Given the description of an element on the screen output the (x, y) to click on. 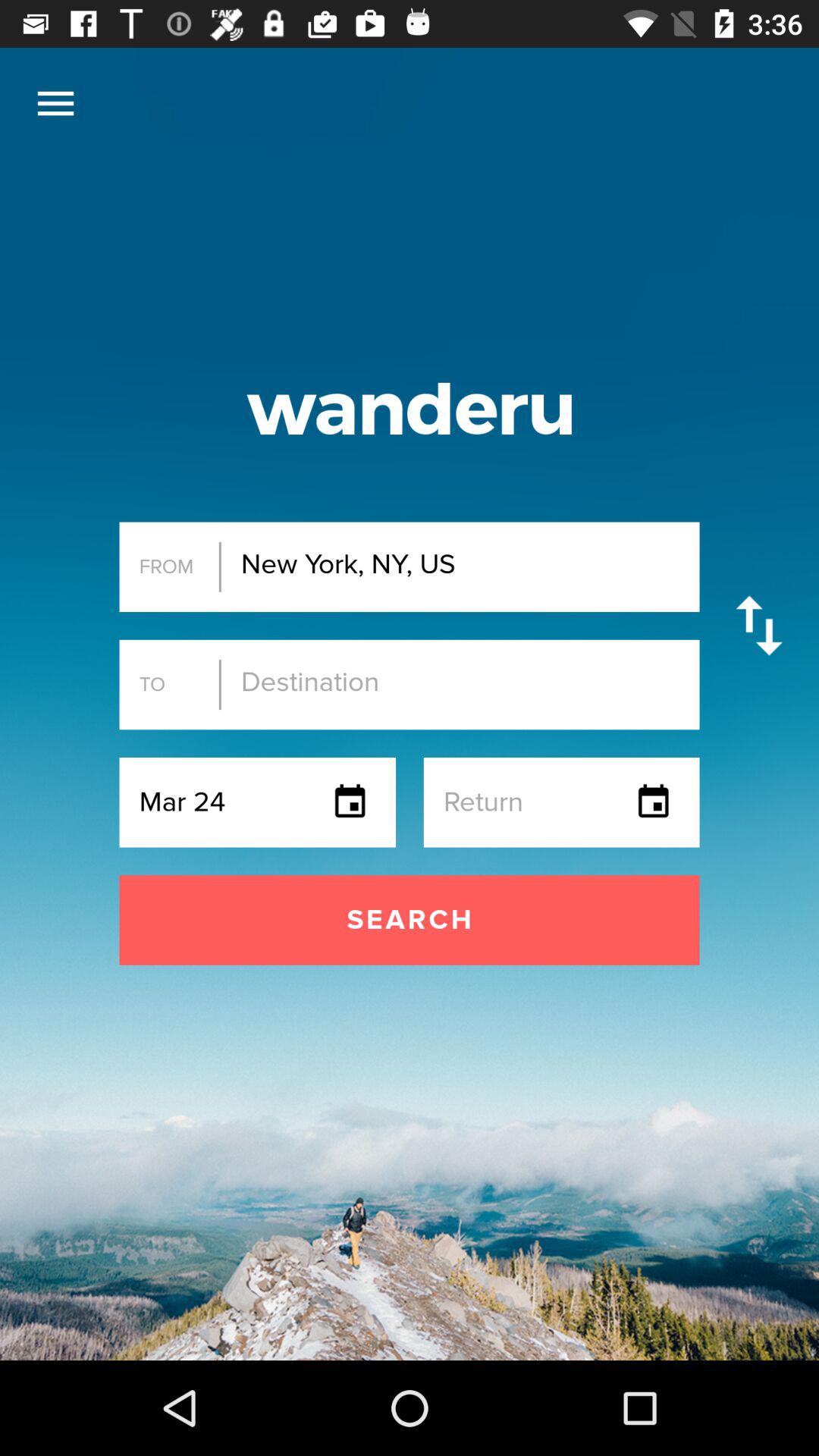
pull up options (55, 103)
